Given the description of an element on the screen output the (x, y) to click on. 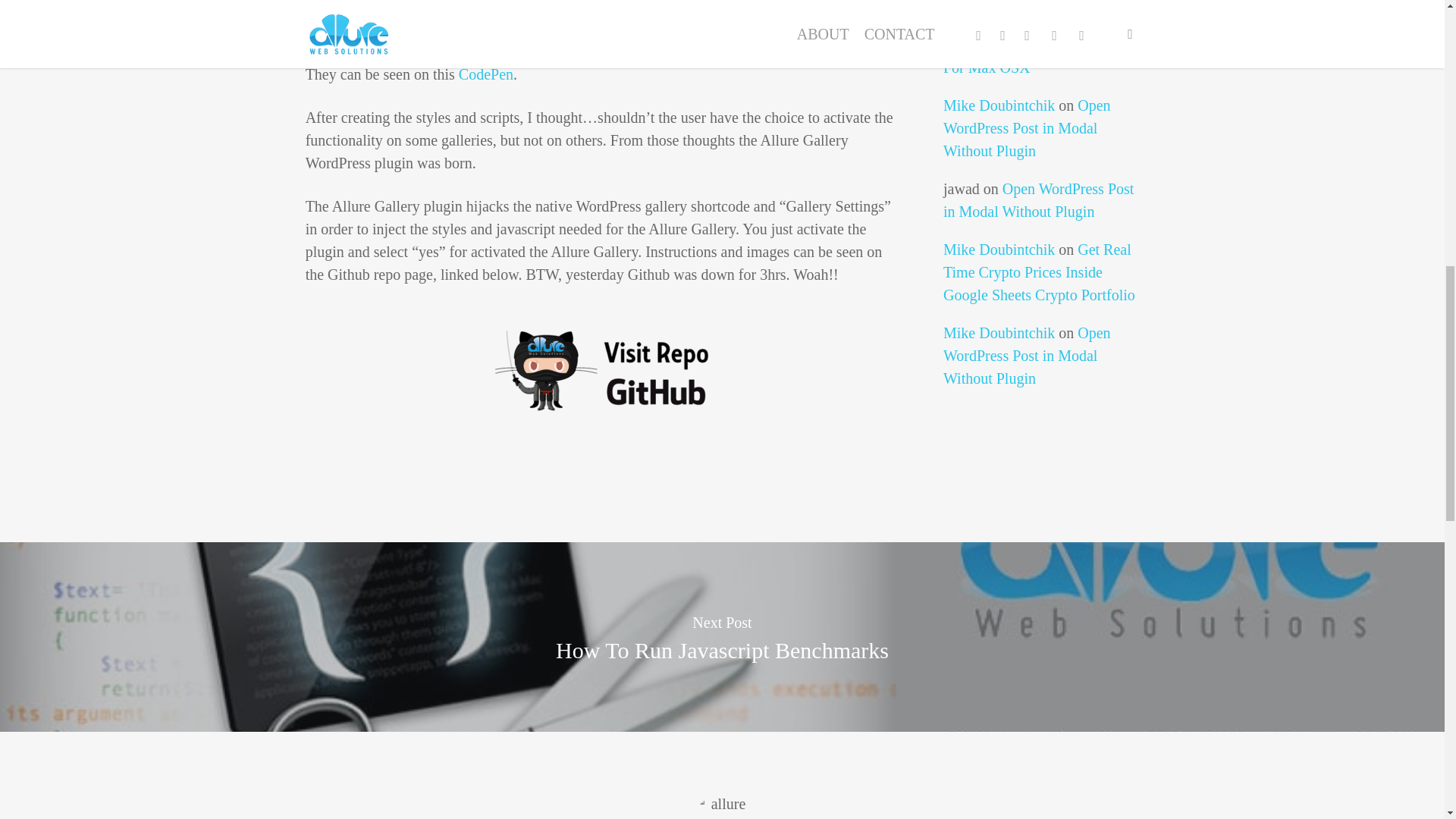
CodePen (485, 74)
Mike Doubintchik (998, 105)
Mike Doubintchik (998, 248)
Mike Doubintchik (998, 332)
Open WordPress Post in Modal Without Plugin (1026, 127)
How To Run Javascript Benchmarks (722, 650)
Open WordPress Post in Modal Without Plugin (1038, 200)
